Given the description of an element on the screen output the (x, y) to click on. 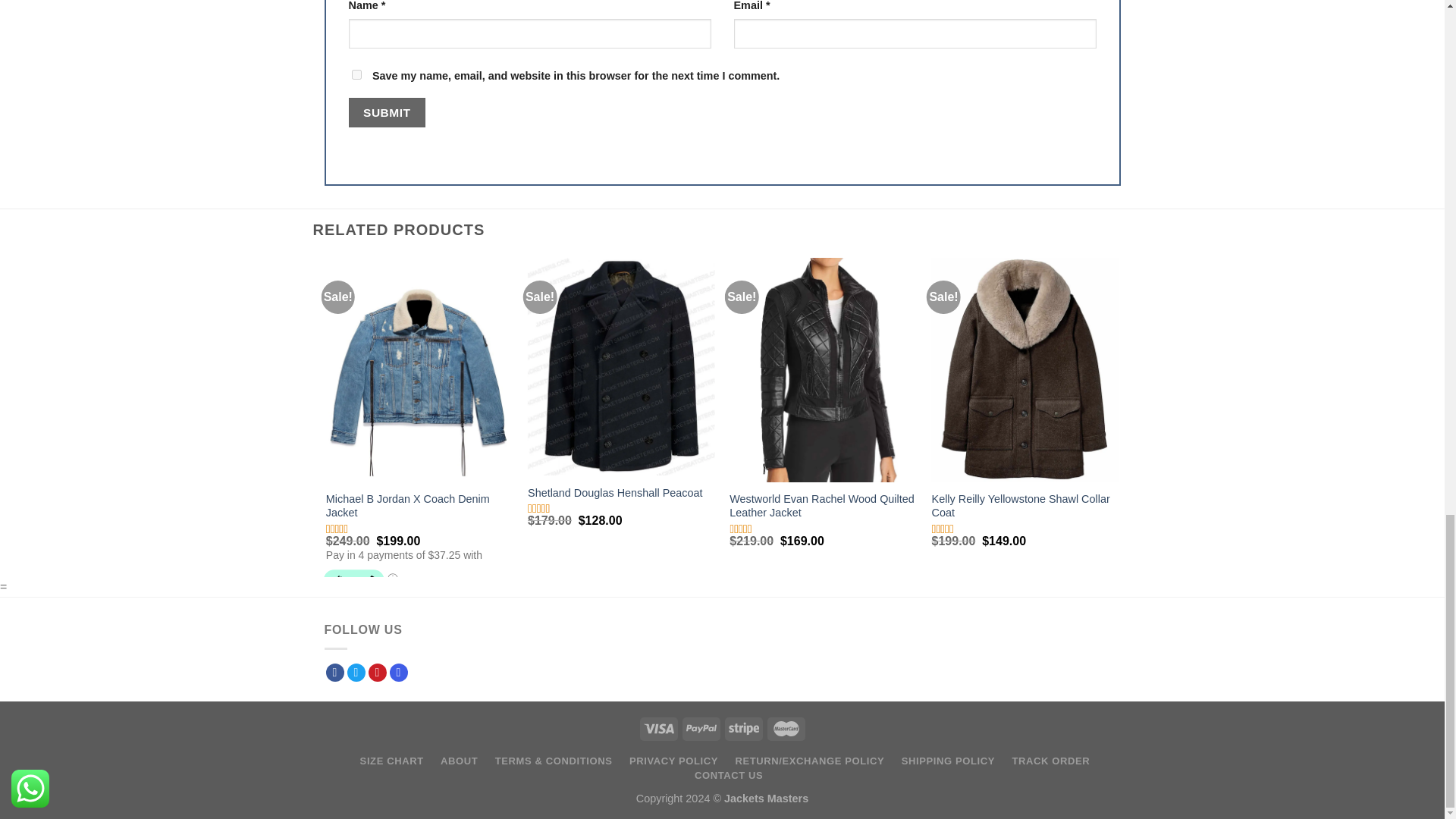
yes (356, 74)
Submit (387, 112)
